Given the description of an element on the screen output the (x, y) to click on. 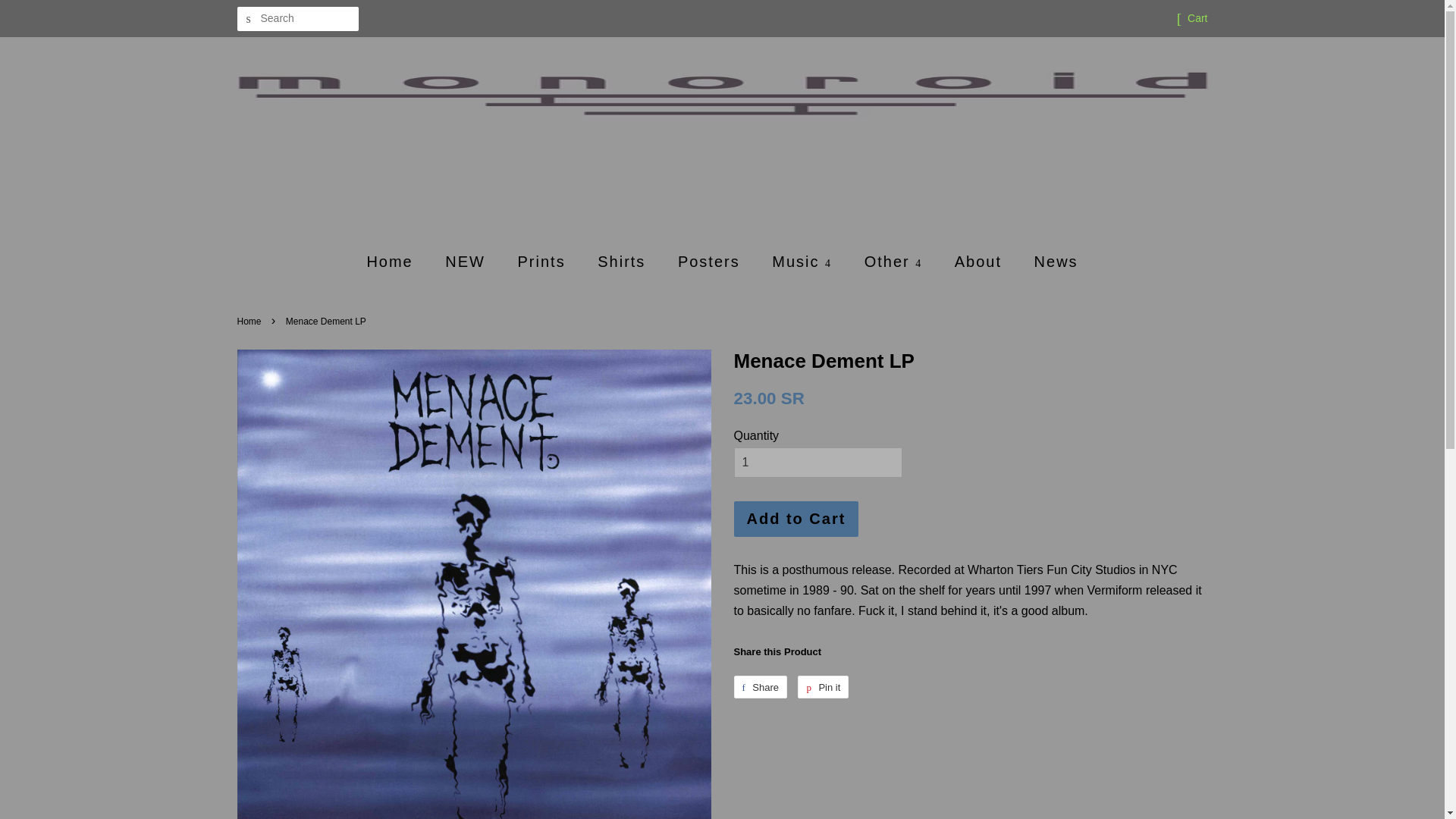
Shirts (623, 261)
1 (817, 462)
Share on Facebook (760, 686)
Home (397, 261)
Prints (543, 261)
Posters (710, 261)
Search (247, 18)
Back to the frontpage (249, 321)
Cart (1197, 18)
Pin on Pinterest (822, 686)
